Given the description of an element on the screen output the (x, y) to click on. 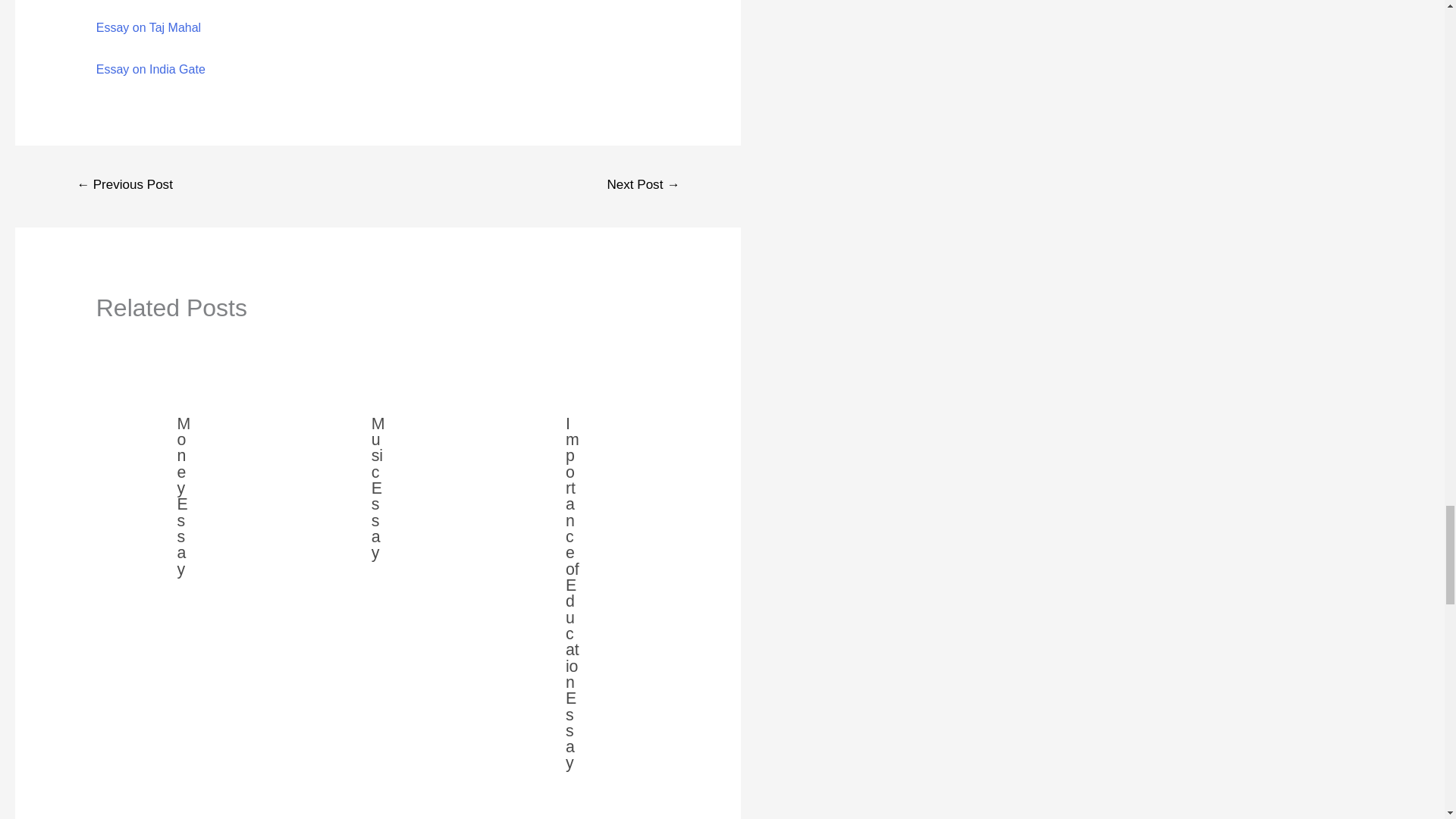
Essay on Taj Mahal (148, 27)
Essay on India Gate (150, 69)
